Given the description of an element on the screen output the (x, y) to click on. 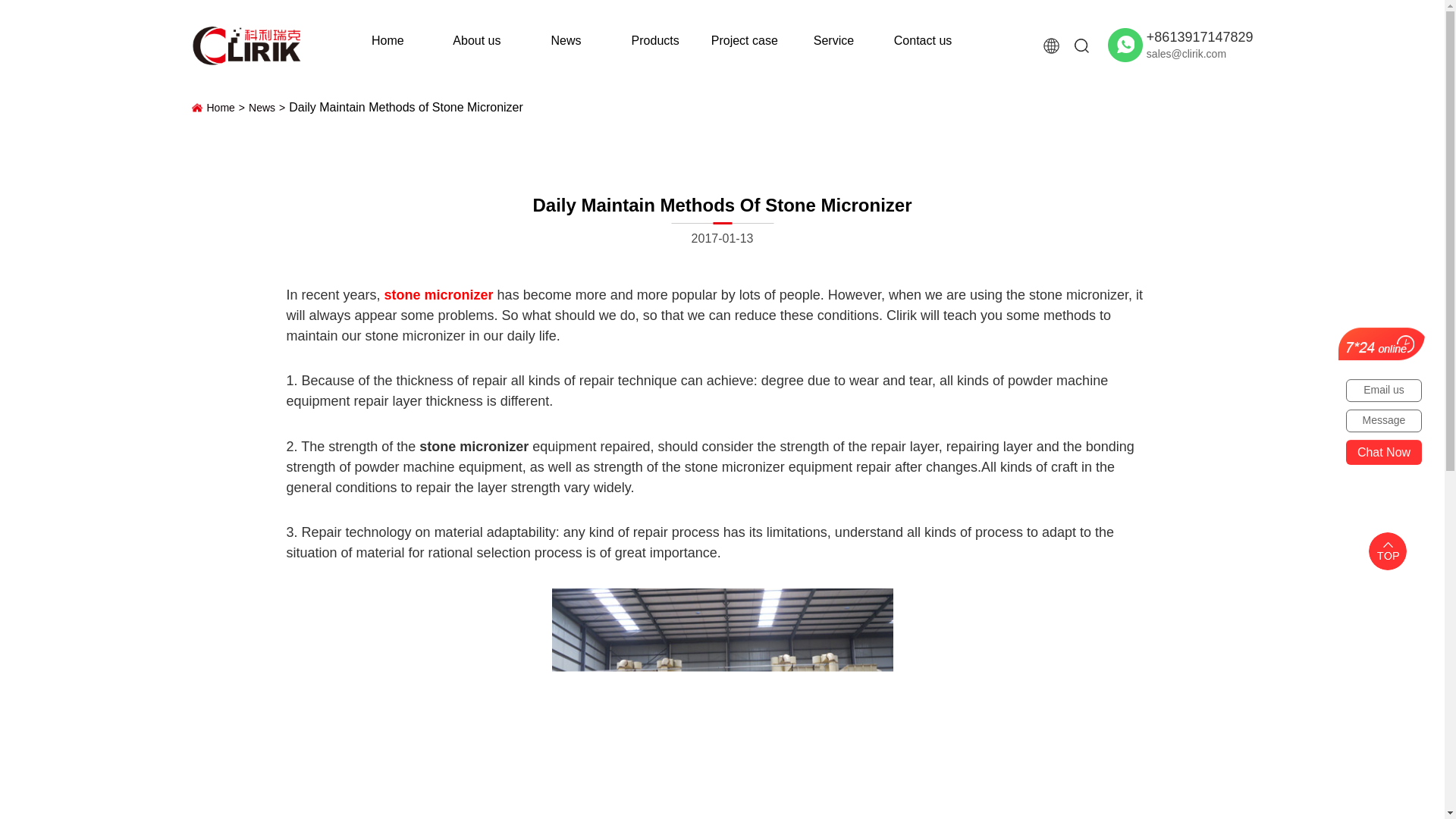
Service (833, 40)
News (565, 40)
Message (1383, 420)
News (268, 107)
Home (227, 107)
Home (387, 40)
About us (476, 40)
Email us (1383, 390)
Contact us (922, 40)
Products (655, 40)
stone micronizer (438, 294)
Project case (744, 40)
